Given the description of an element on the screen output the (x, y) to click on. 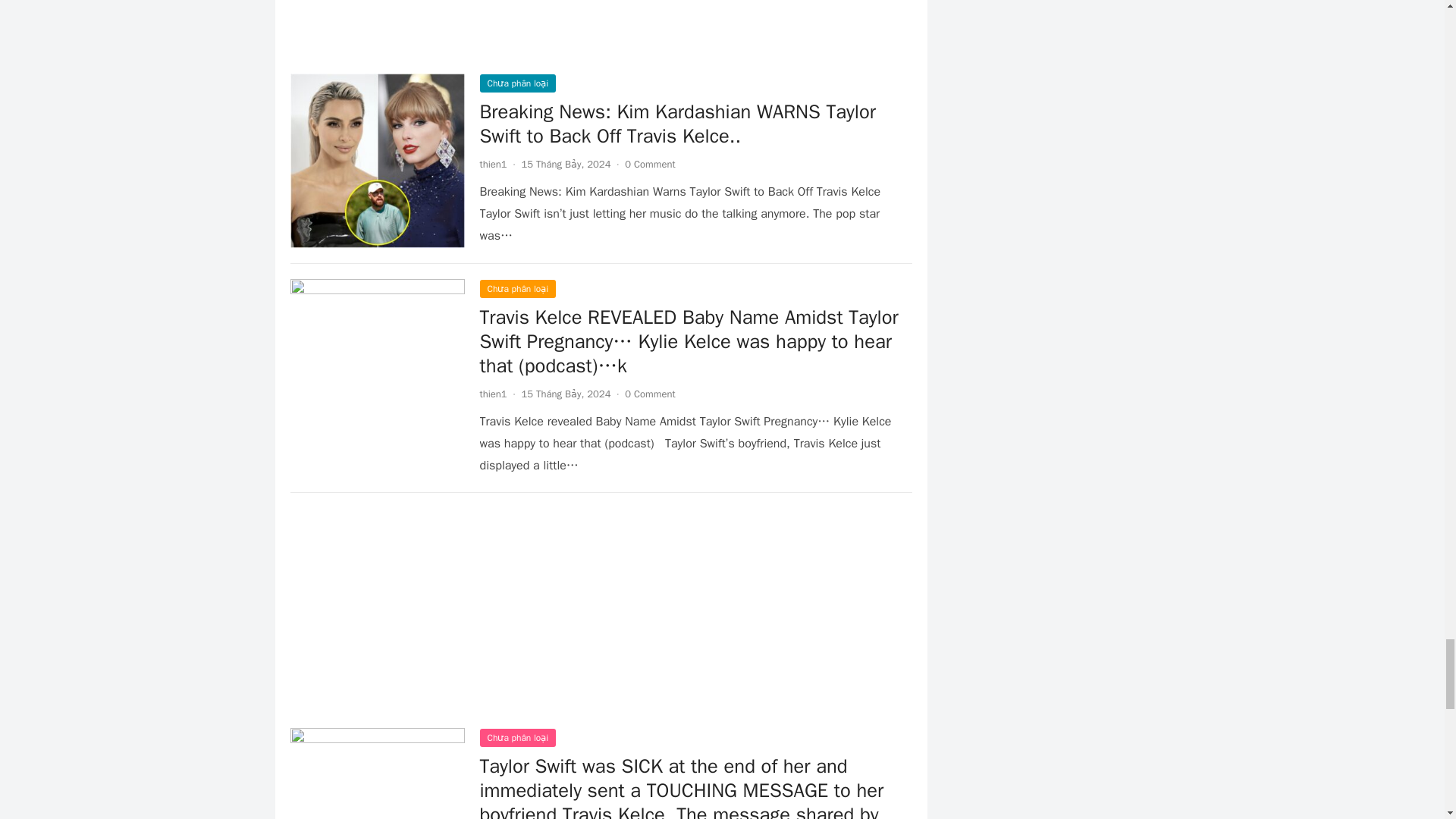
thien1 (492, 164)
0 Comment (649, 164)
